Given the description of an element on the screen output the (x, y) to click on. 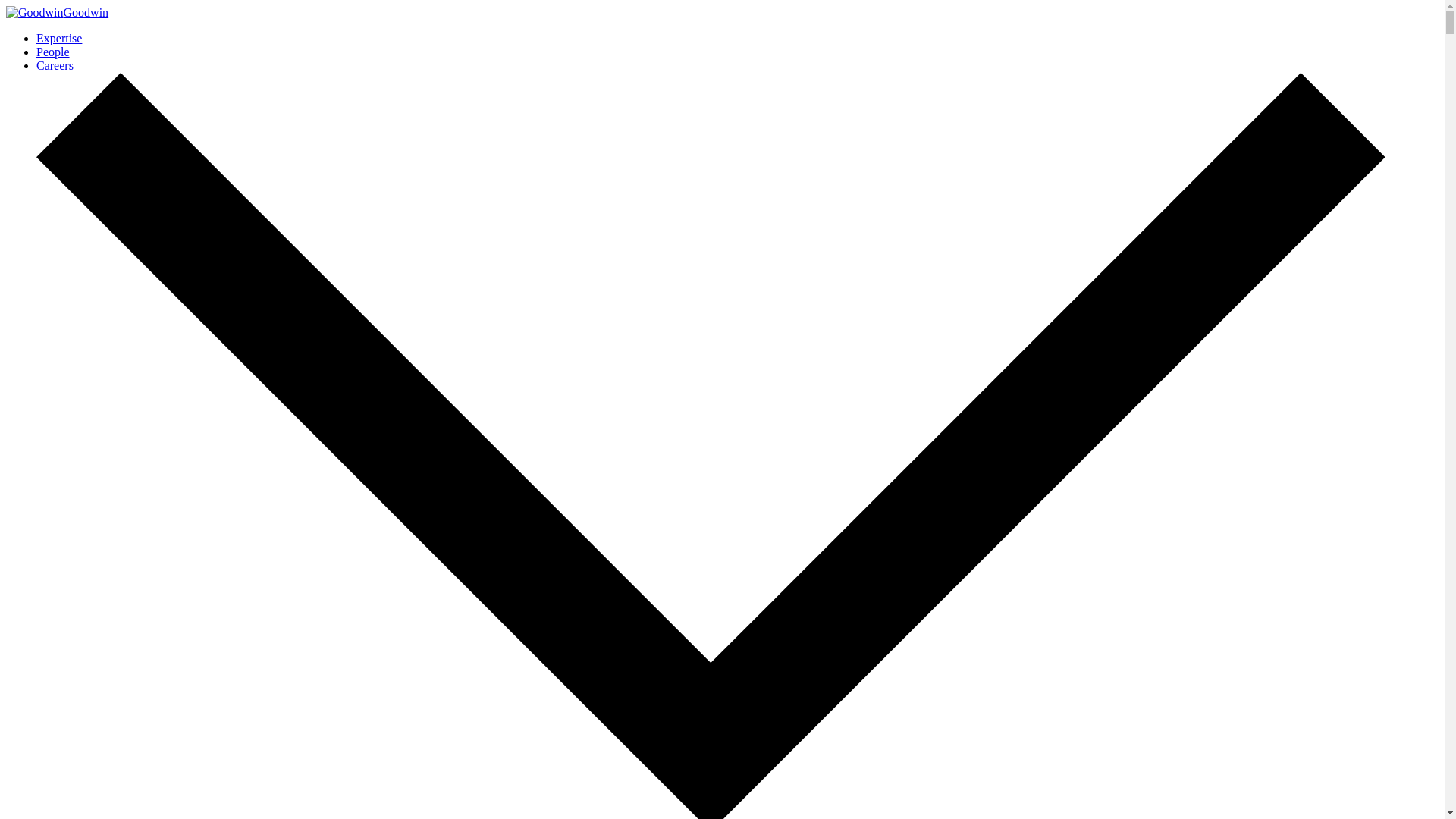
Expertise (58, 38)
Goodwin (56, 11)
People (52, 51)
